Given the description of an element on the screen output the (x, y) to click on. 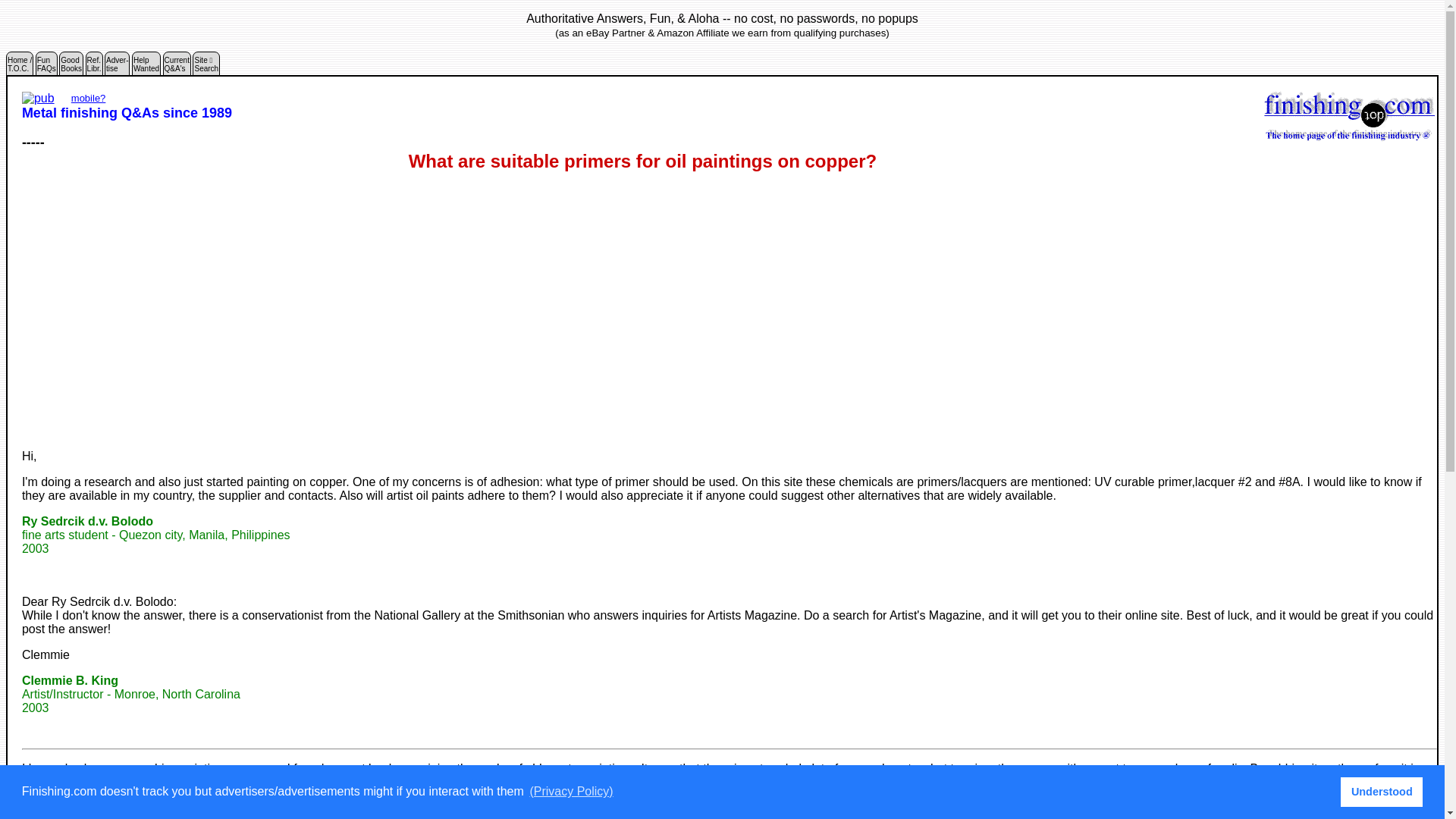
Frequently asked questions about Metal Finishing (46, 66)
Recommended metal finishing books (70, 66)
Understood (1381, 791)
mobile? (88, 98)
On-line library of metal finishing articles (70, 66)
Search the site (94, 66)
Advertise on the world's premier metal finishing site (94, 66)
The finishing.com Hotline public forum (46, 66)
Good jobs are going begging (146, 66)
